Given the description of an element on the screen output the (x, y) to click on. 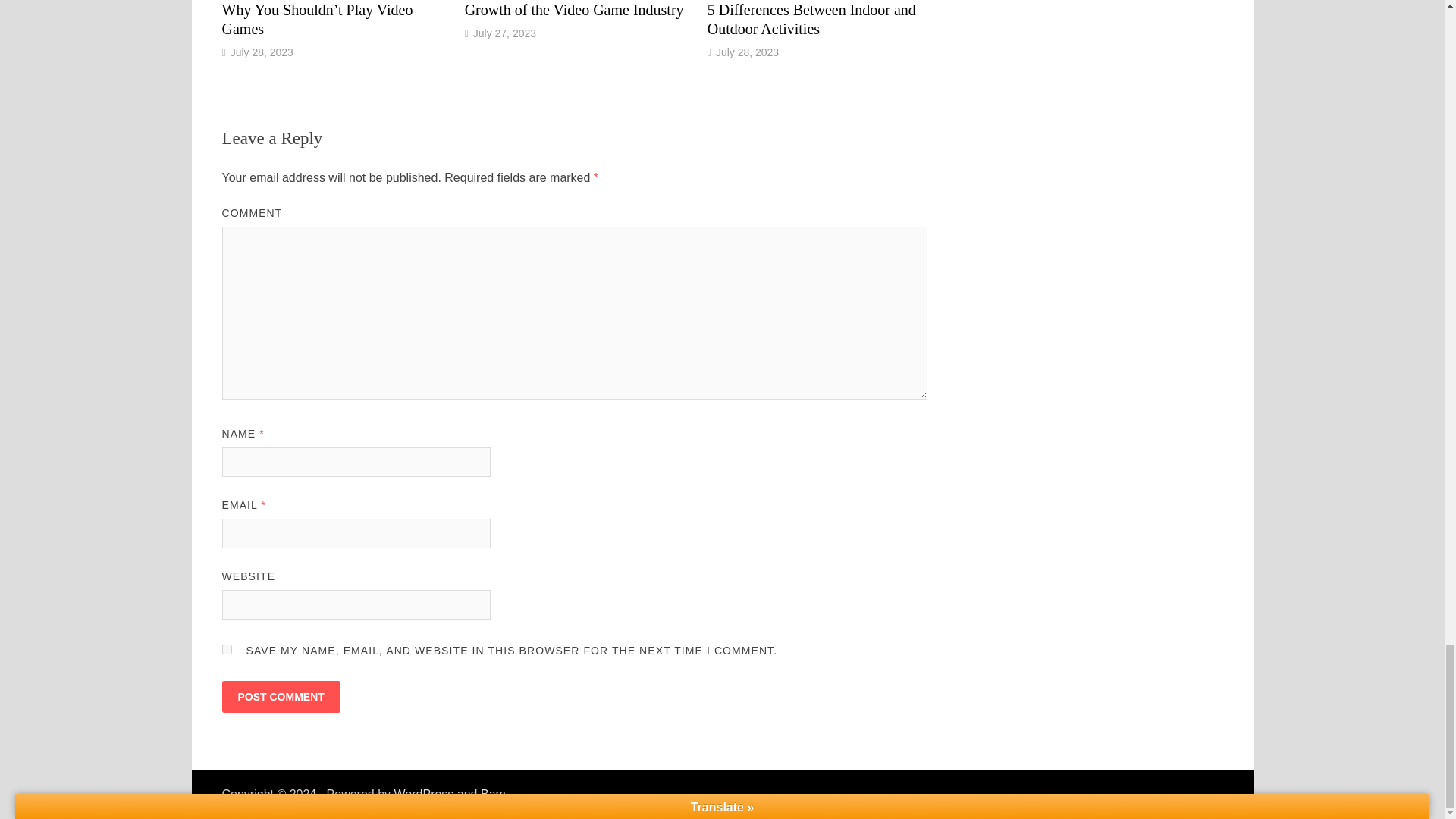
yes (226, 649)
Post Comment (280, 696)
Growth of the Video Game Industry (574, 8)
